Given the description of an element on the screen output the (x, y) to click on. 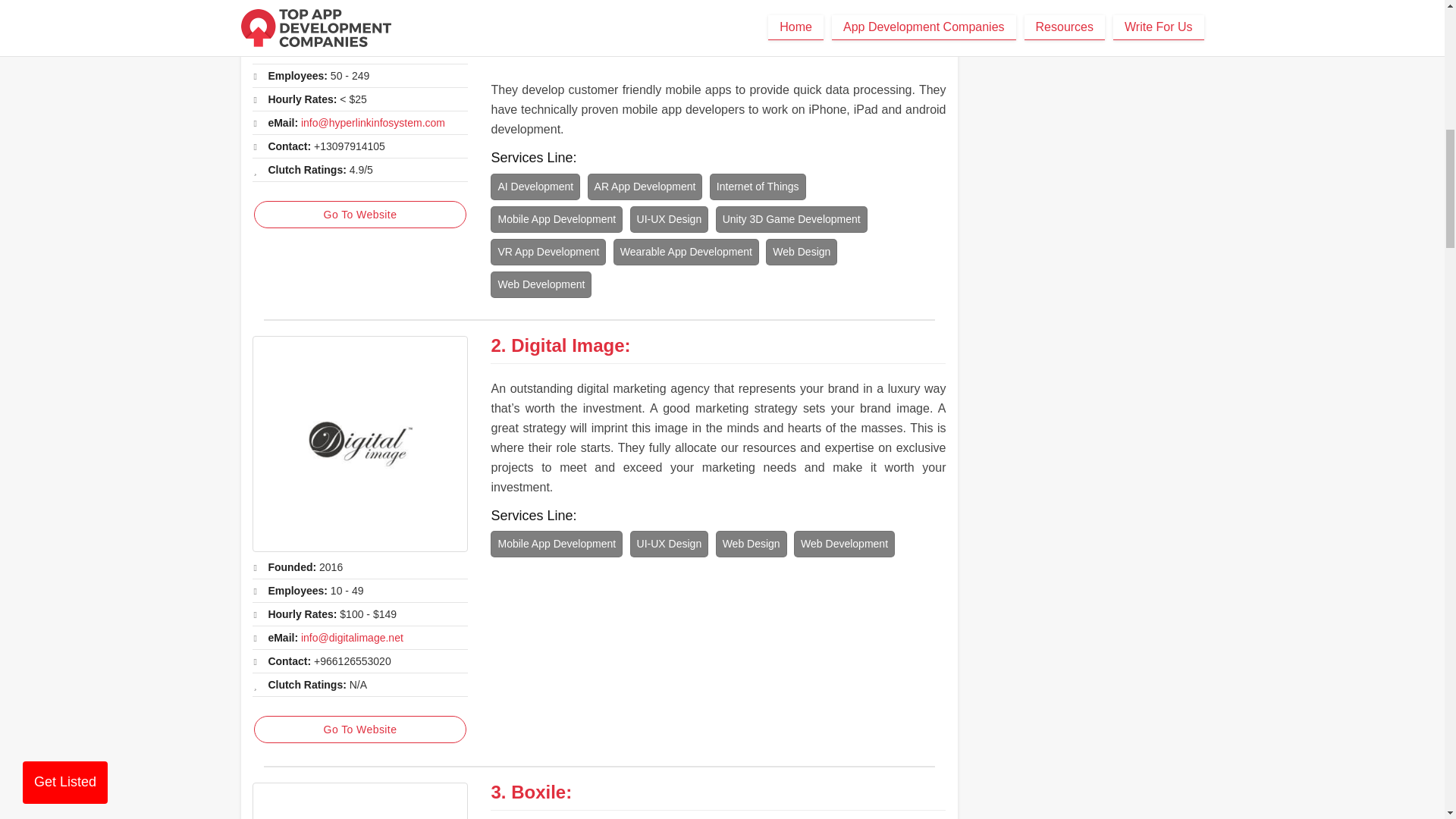
Hyperlink InfoSystem (359, 18)
Boxile (359, 800)
Digital Image (359, 443)
Digital Image (567, 344)
Boxile (538, 792)
Go To Website (359, 214)
Go To Website (359, 728)
